Given the description of an element on the screen output the (x, y) to click on. 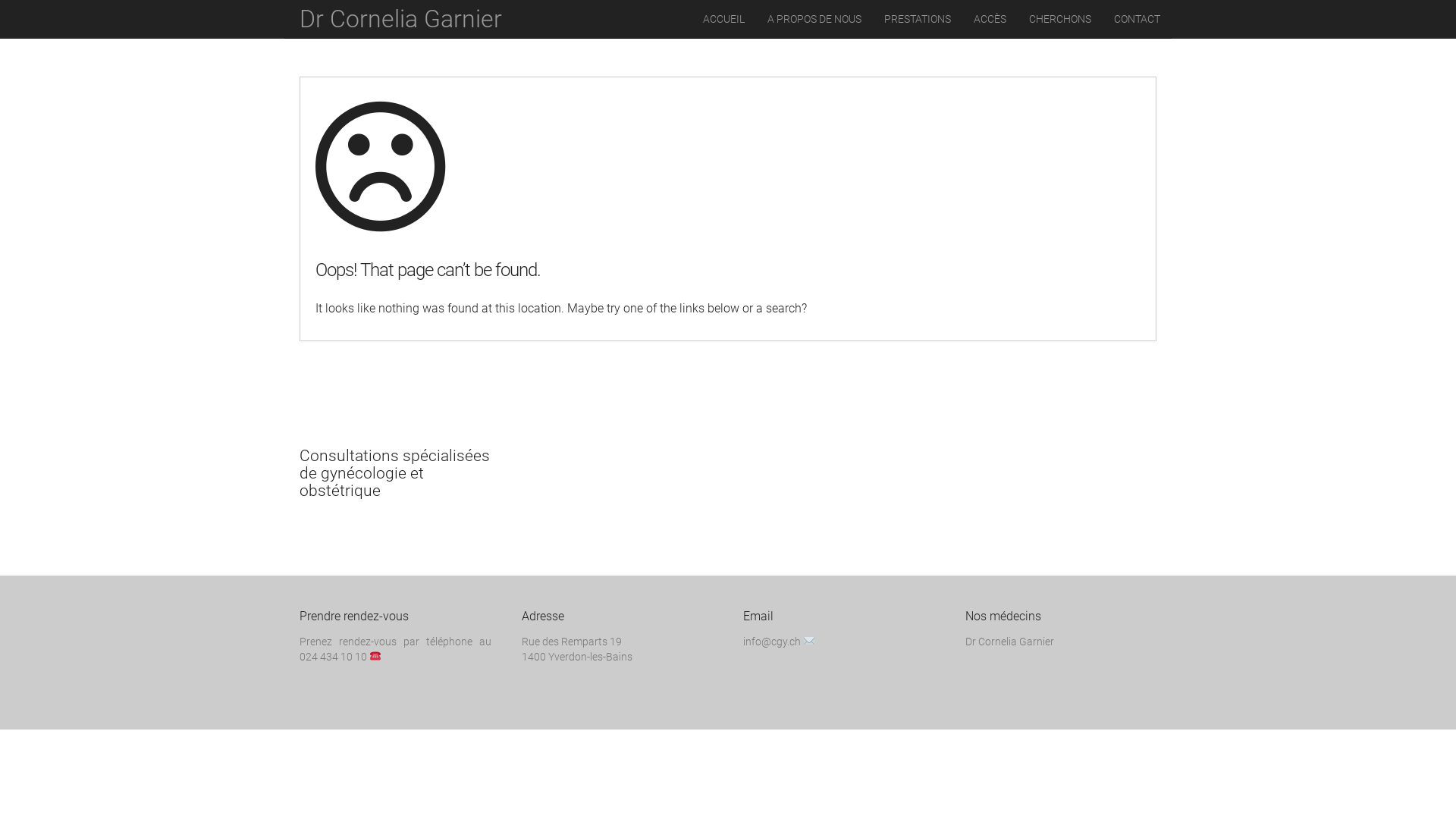
024 434 10 10 Element type: text (333, 656)
CHERCHONS Element type: text (1059, 18)
ACCUEIL Element type: text (723, 18)
Dr Cornelia Garnier Element type: text (400, 18)
A PROPOS DE NOUS Element type: text (814, 18)
info@cgy.ch Element type: text (771, 641)
CONTACT Element type: text (1136, 18)
PRESTATIONS Element type: text (917, 18)
Dr Cornelia Garnier Element type: text (1008, 641)
